Given the description of an element on the screen output the (x, y) to click on. 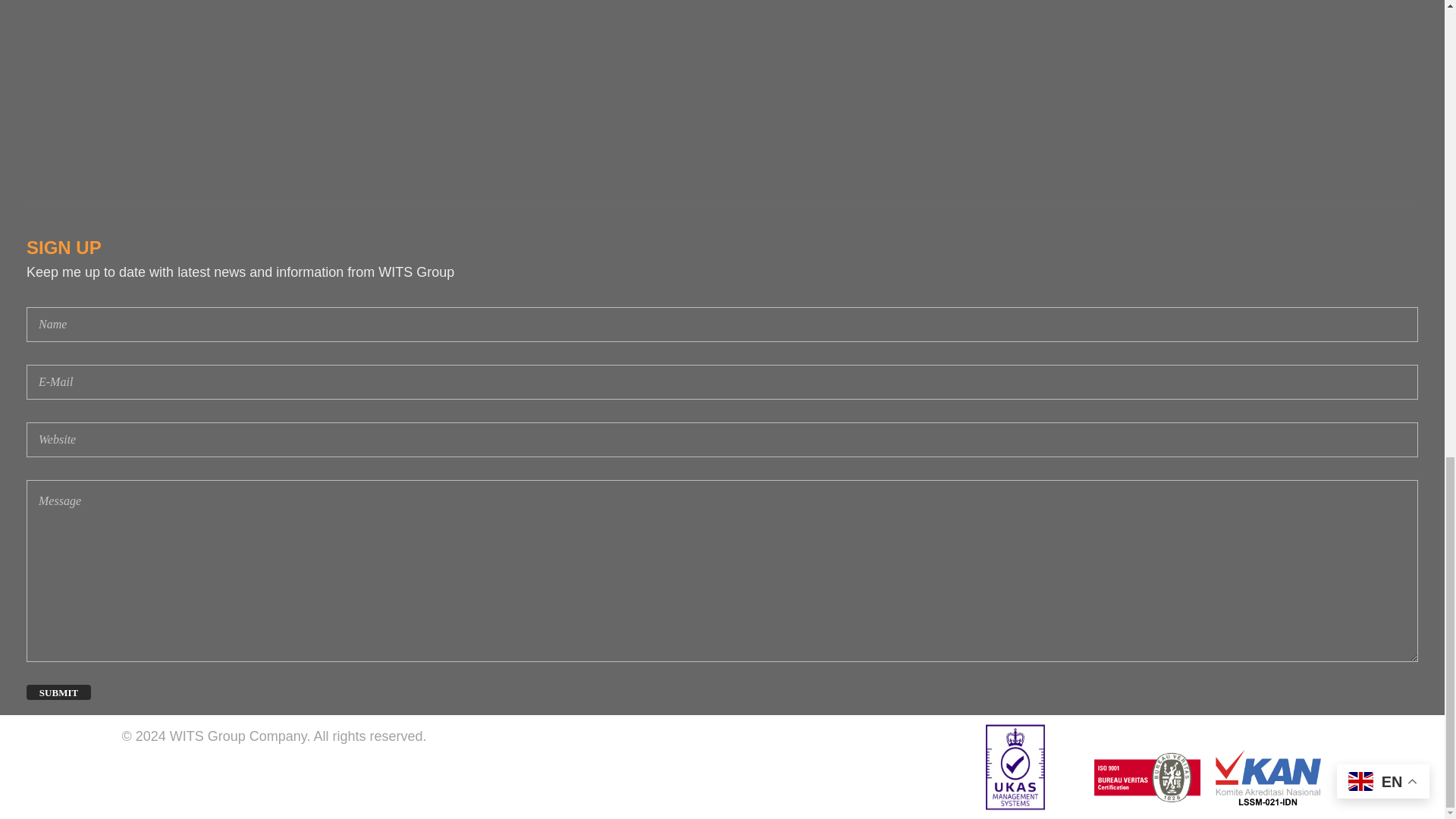
Submit (58, 692)
